Given the description of an element on the screen output the (x, y) to click on. 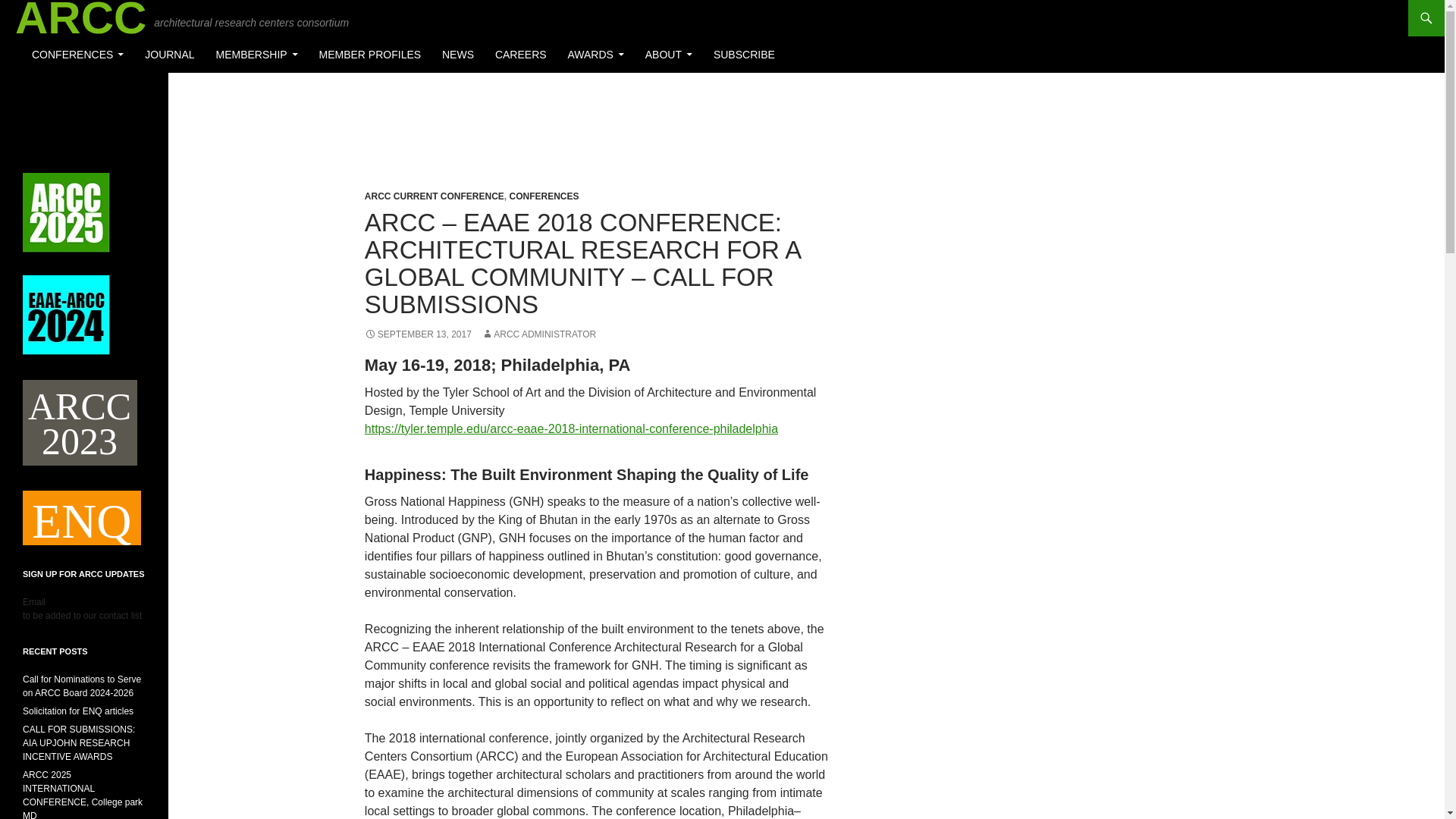
AWARDS (594, 54)
NEWS (457, 54)
SUBSCRIBE (744, 54)
SEPTEMBER 13, 2017 (418, 334)
ARCC (80, 18)
JOURNAL (169, 54)
ARCC ADMINISTRATOR (538, 334)
ABOUT (668, 54)
CONFERENCES (544, 195)
MEMBER PROFILES (370, 54)
